Given the description of an element on the screen output the (x, y) to click on. 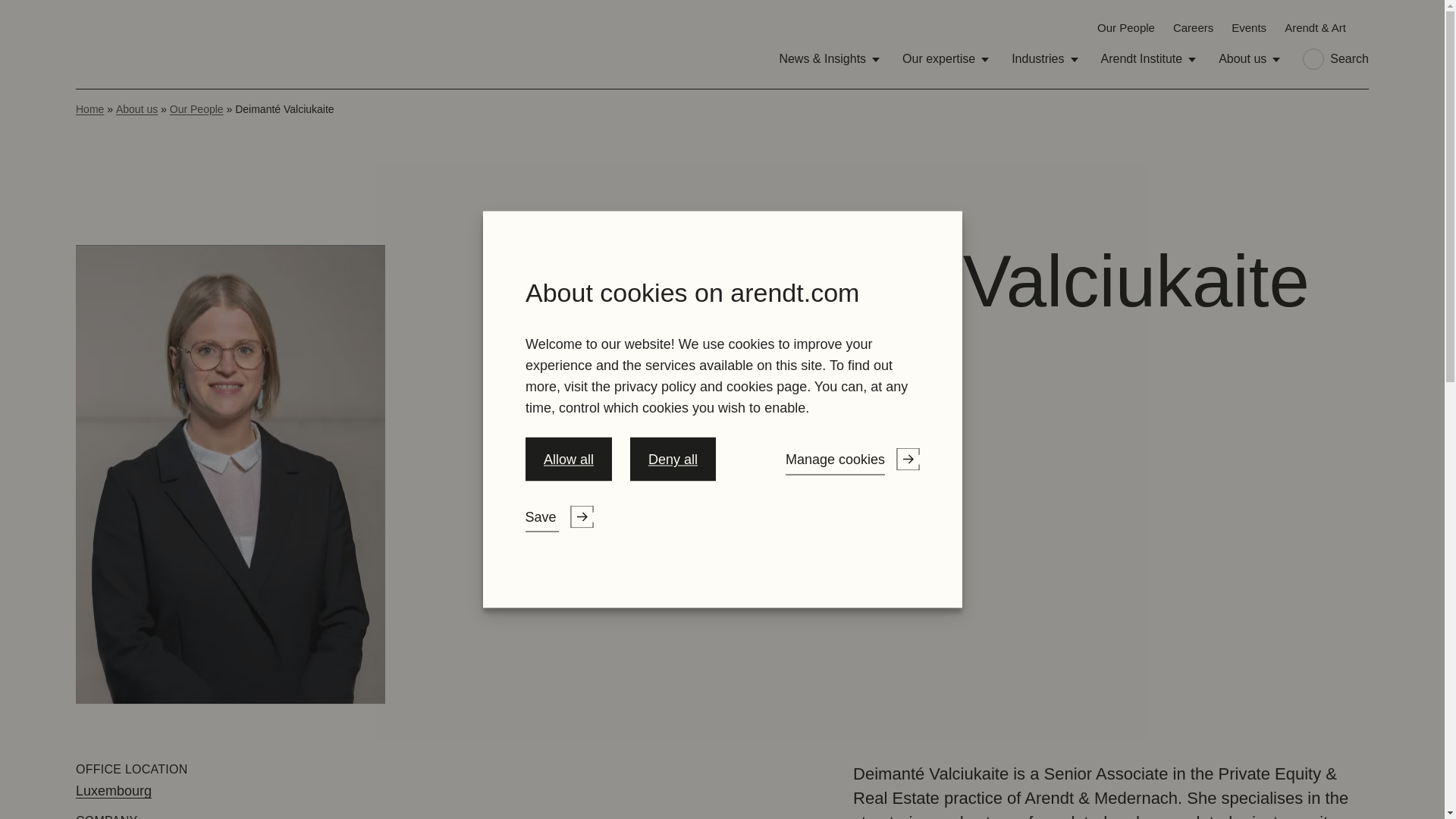
Our People (1125, 27)
Manage cookies (851, 485)
Arendt Go to home page (111, 43)
Events (1248, 27)
Save (34, 515)
Allow all (567, 484)
Our expertise (945, 59)
Deny all (673, 484)
Careers (1192, 27)
